Given the description of an element on the screen output the (x, y) to click on. 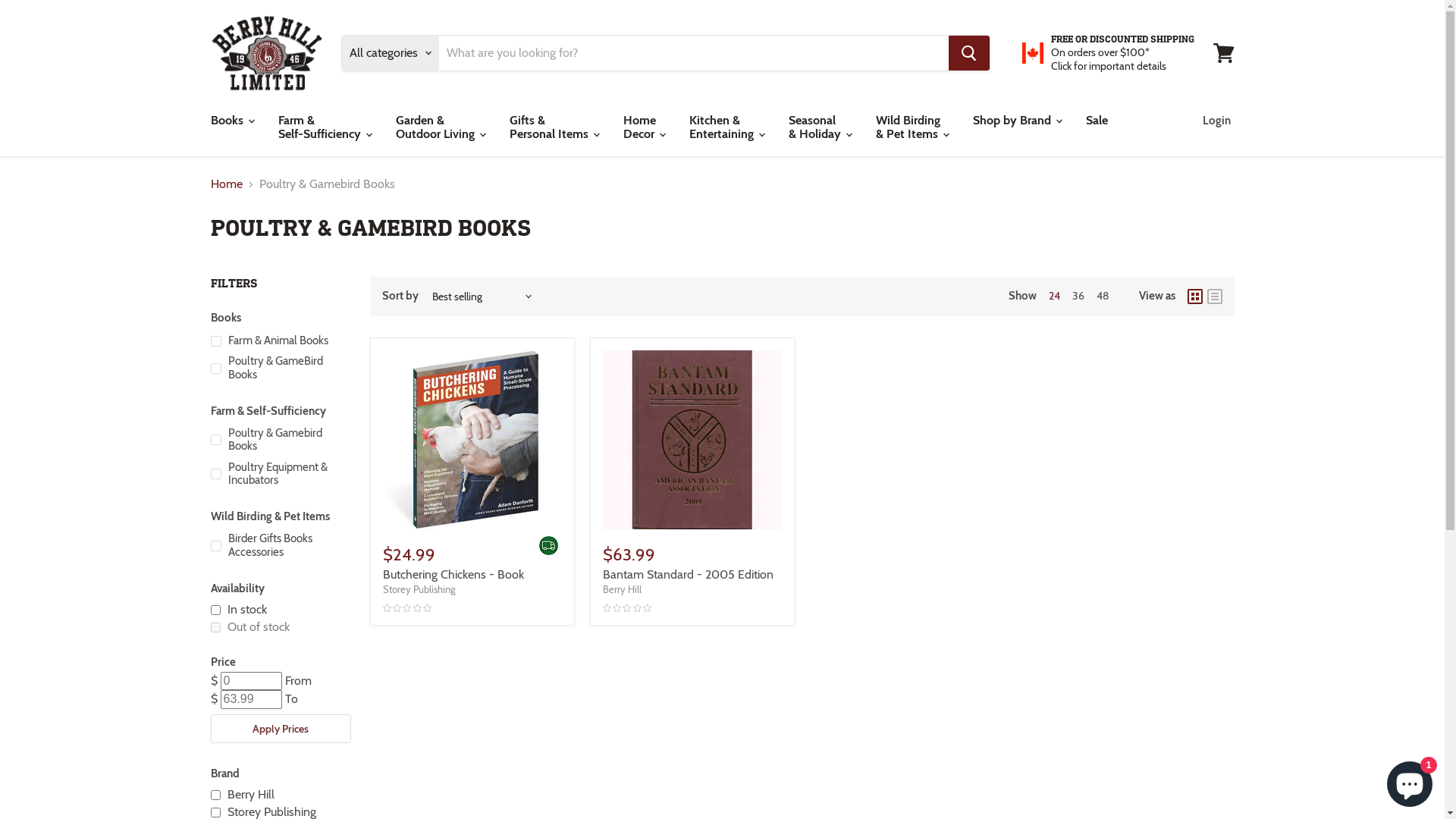
Bantam Standard - 2005 Edition Element type: text (687, 574)
48 Element type: text (1102, 295)
Shopify online store chat Element type: hover (1409, 780)
Garden &
Outdoor Living Element type: text (438, 127)
Apply Prices Element type: text (280, 728)
Home
Decor Element type: text (642, 127)
0 Element type: text (215, 627)
Storey Publishing Element type: text (215, 812)
Poultry & GameBird Books Element type: text (278, 367)
Poultry Equipment & Incubators Element type: text (278, 473)
1 Element type: text (215, 610)
Farm &
Self-Sufficiency Element type: text (323, 127)
Home Element type: text (226, 184)
Farm & Animal Books Element type: text (278, 340)
Seasonal
& Holiday Element type: text (818, 127)
Shop by Brand Element type: text (1016, 120)
Birder Gifts Books Accessories Element type: text (278, 545)
Berry Hill Element type: text (215, 795)
24 Element type: text (1053, 295)
Poultry & Gamebird Books Element type: text (278, 439)
Wild Birding
& Pet Items Element type: text (911, 127)
36 Element type: text (1078, 295)
Gifts &
Personal Items Element type: text (552, 127)
View cart Element type: text (1223, 52)
Login Element type: text (1216, 120)
Books Element type: text (230, 120)
Sale Element type: text (1095, 120)
Berry Hill Element type: text (621, 589)
Kitchen &
Entertaining Element type: text (725, 127)
Storey Publishing Element type: text (418, 589)
Butchering Chickens - Book Element type: text (452, 574)
